Given the description of an element on the screen output the (x, y) to click on. 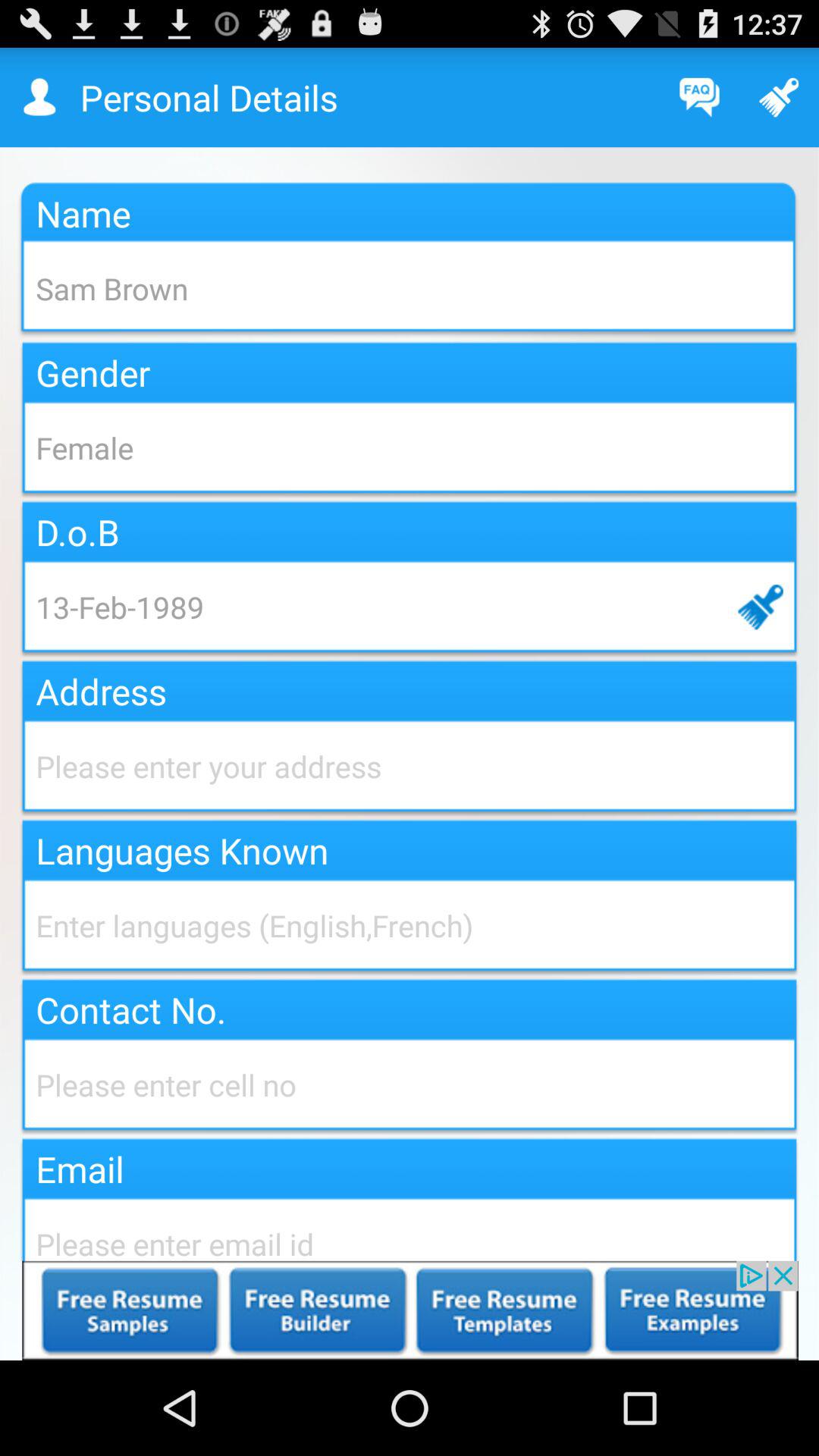
enter email (409, 1227)
